Given the description of an element on the screen output the (x, y) to click on. 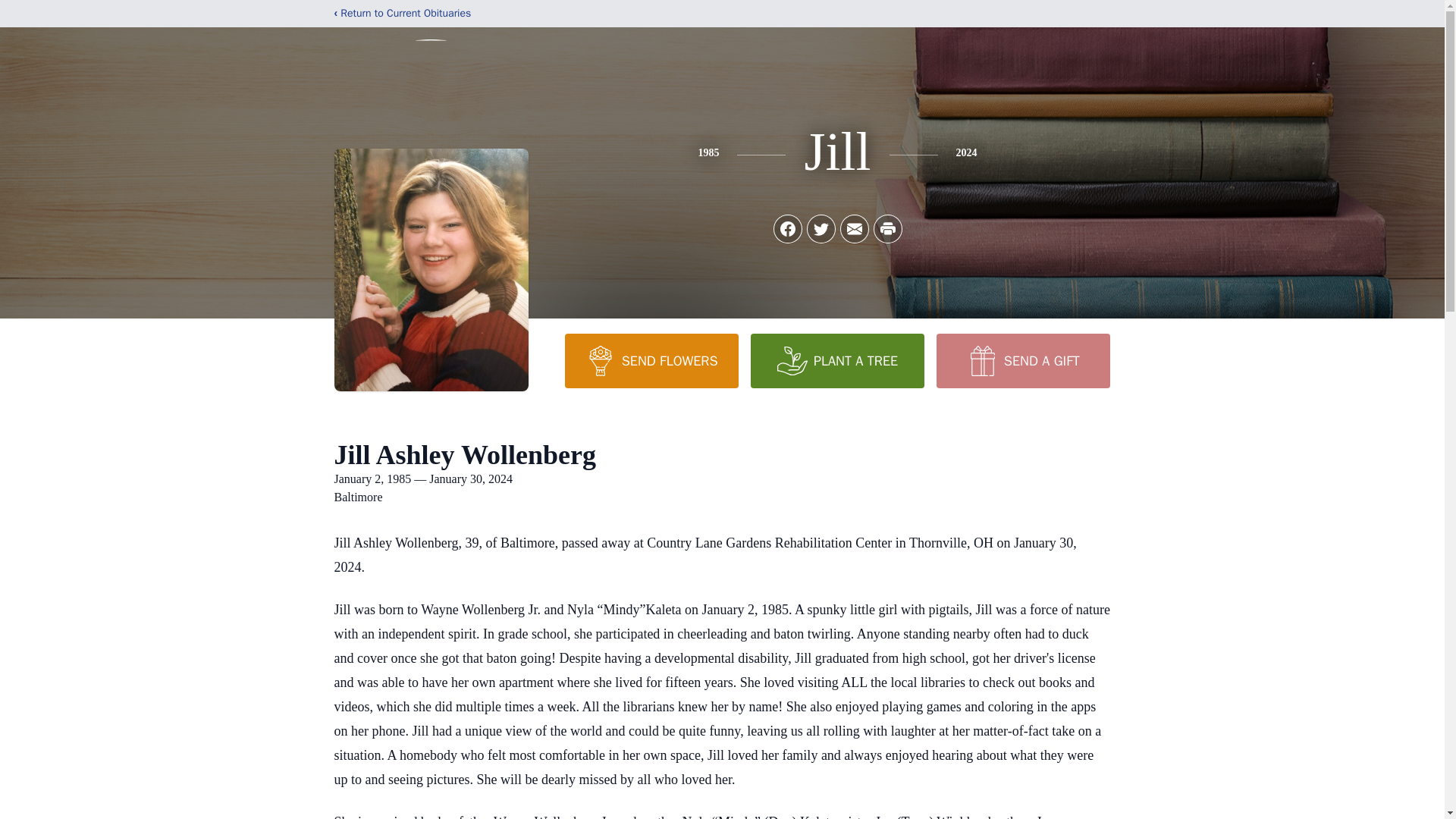
PLANT A TREE (837, 360)
SEND FLOWERS (651, 360)
SEND A GIFT (1022, 360)
